Given the description of an element on the screen output the (x, y) to click on. 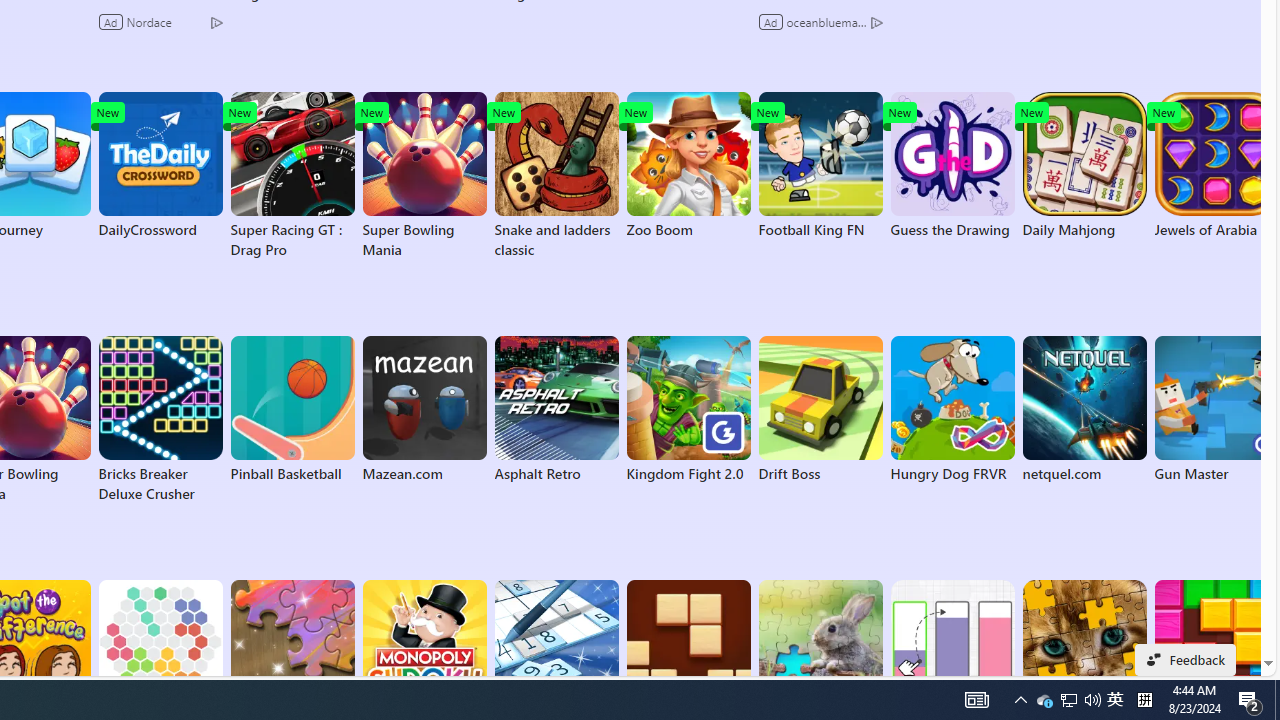
Super Racing GT : Drag Pro (292, 175)
Jewels of Arabia (1216, 165)
Guess the Drawing (952, 165)
Gun Master (1216, 409)
Bricks Breaker Deluxe Crusher (160, 419)
Asphalt Retro (556, 409)
DailyCrossword (160, 165)
Football King FN (820, 165)
Mazean.com (424, 409)
Drift Boss (820, 409)
Zoo Boom (688, 165)
Pinball Basketball (292, 409)
